Given the description of an element on the screen output the (x, y) to click on. 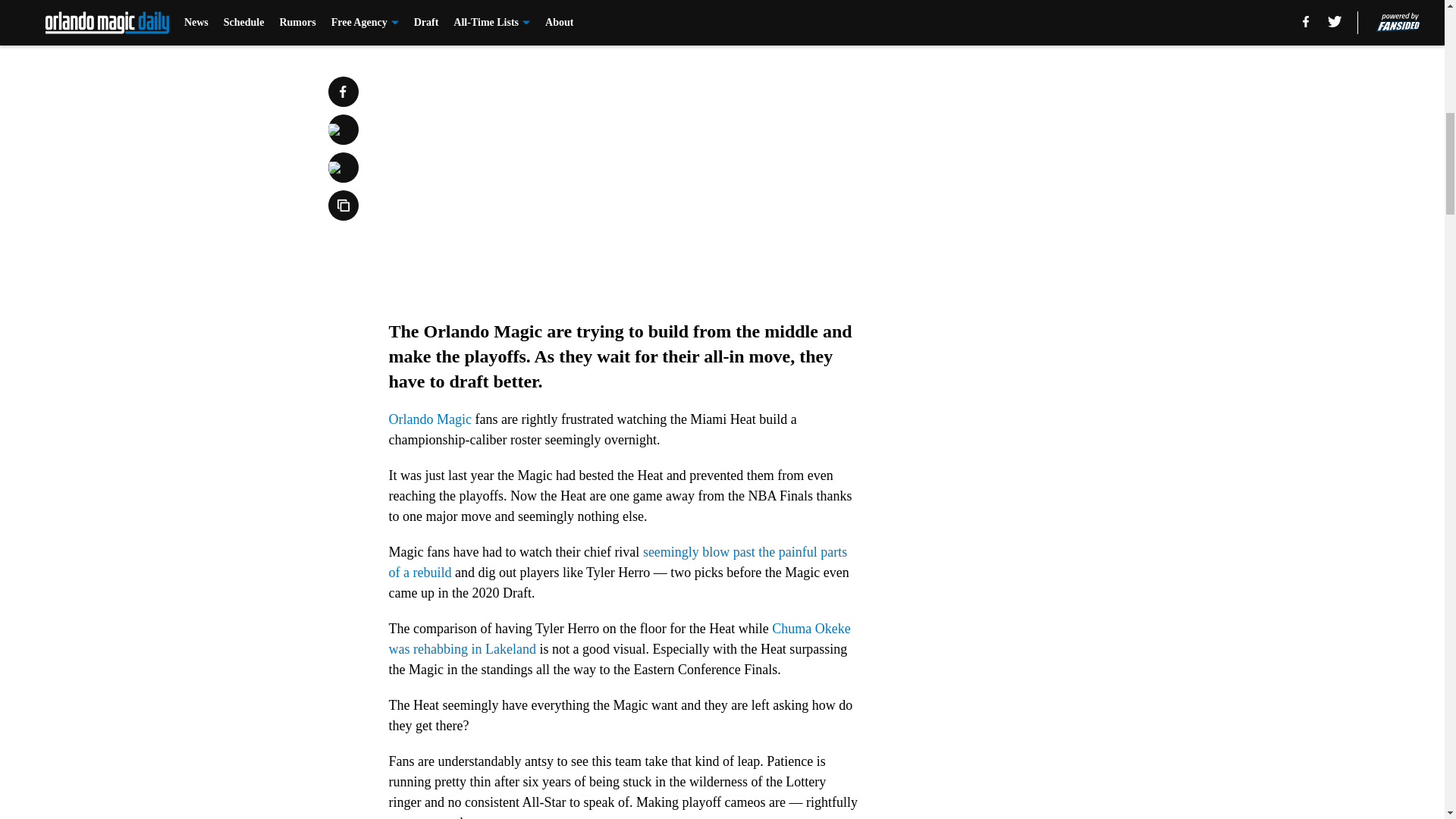
Orlando Magic (429, 418)
Chuma Okeke was rehabbing in Lakeland (619, 638)
seemingly blow past the painful parts of a rebuild (617, 561)
